Given the description of an element on the screen output the (x, y) to click on. 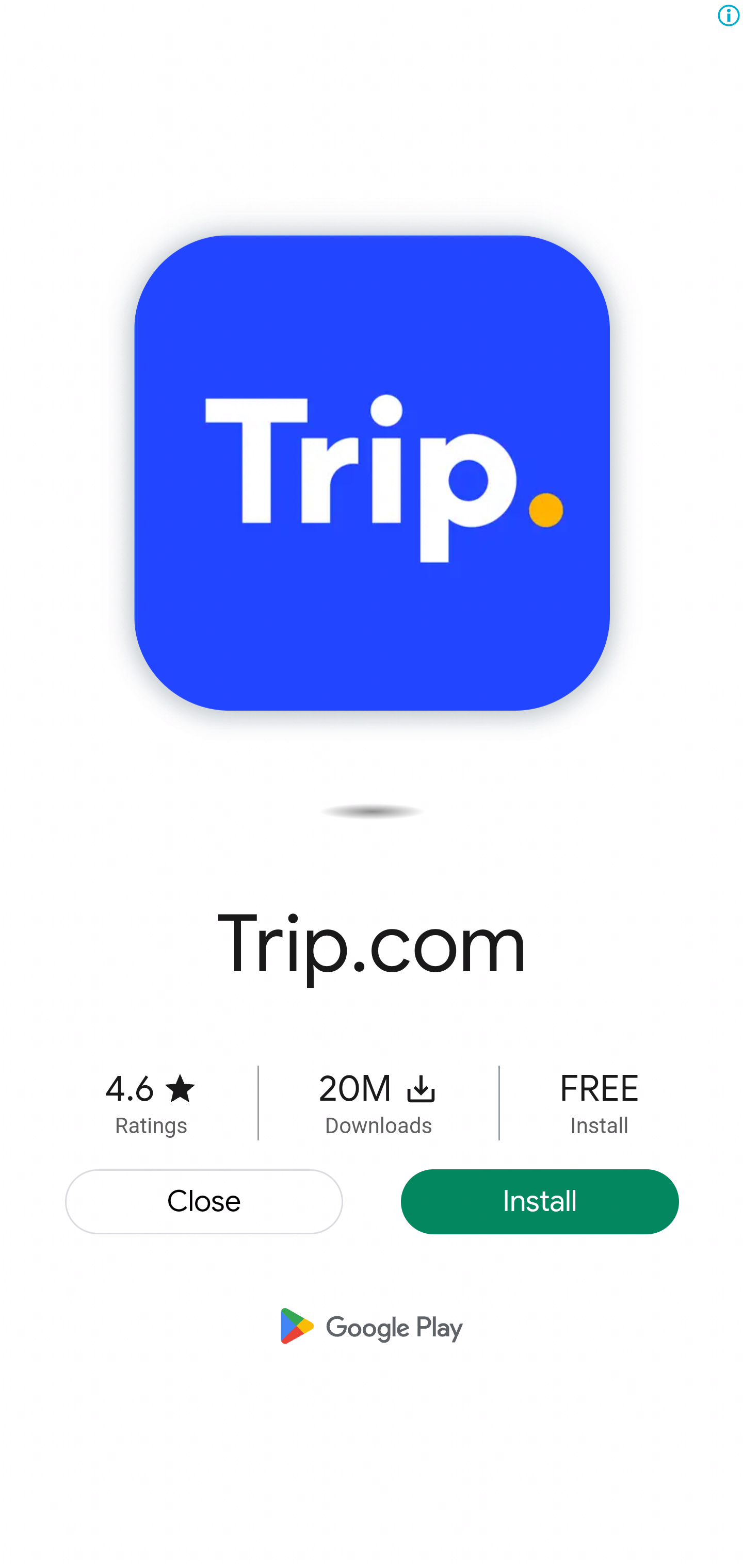
Close (204, 1201)
Install (539, 1201)
